Given the description of an element on the screen output the (x, y) to click on. 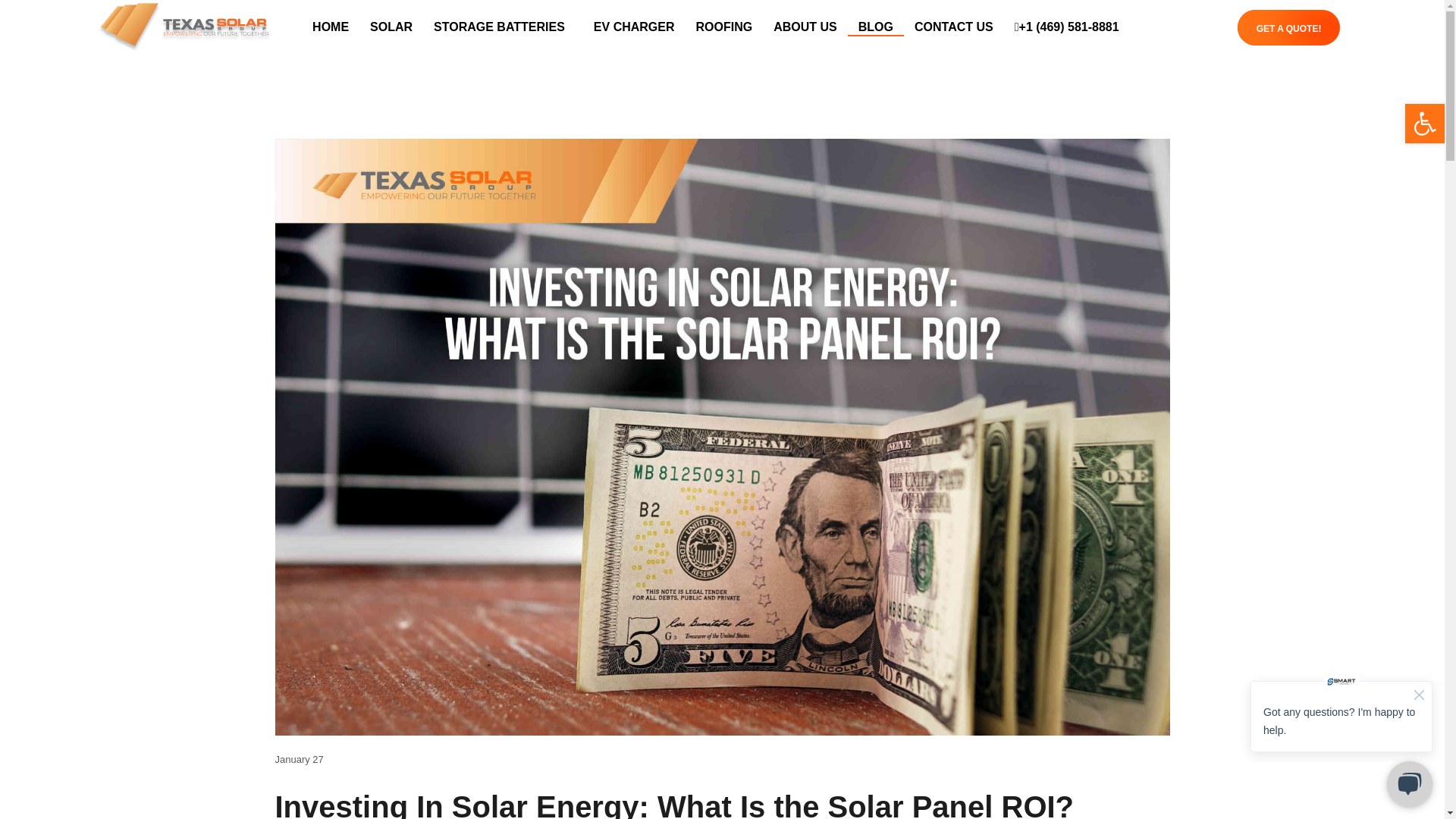
SOLAR (391, 27)
GET A QUOTE! (1288, 27)
STORAGE BATTERIES (503, 27)
BLOG (875, 27)
HOME (330, 27)
ROOFING (723, 27)
EV CHARGER (634, 27)
ABOUT US (804, 27)
CONTACT US (954, 27)
